Given the description of an element on the screen output the (x, y) to click on. 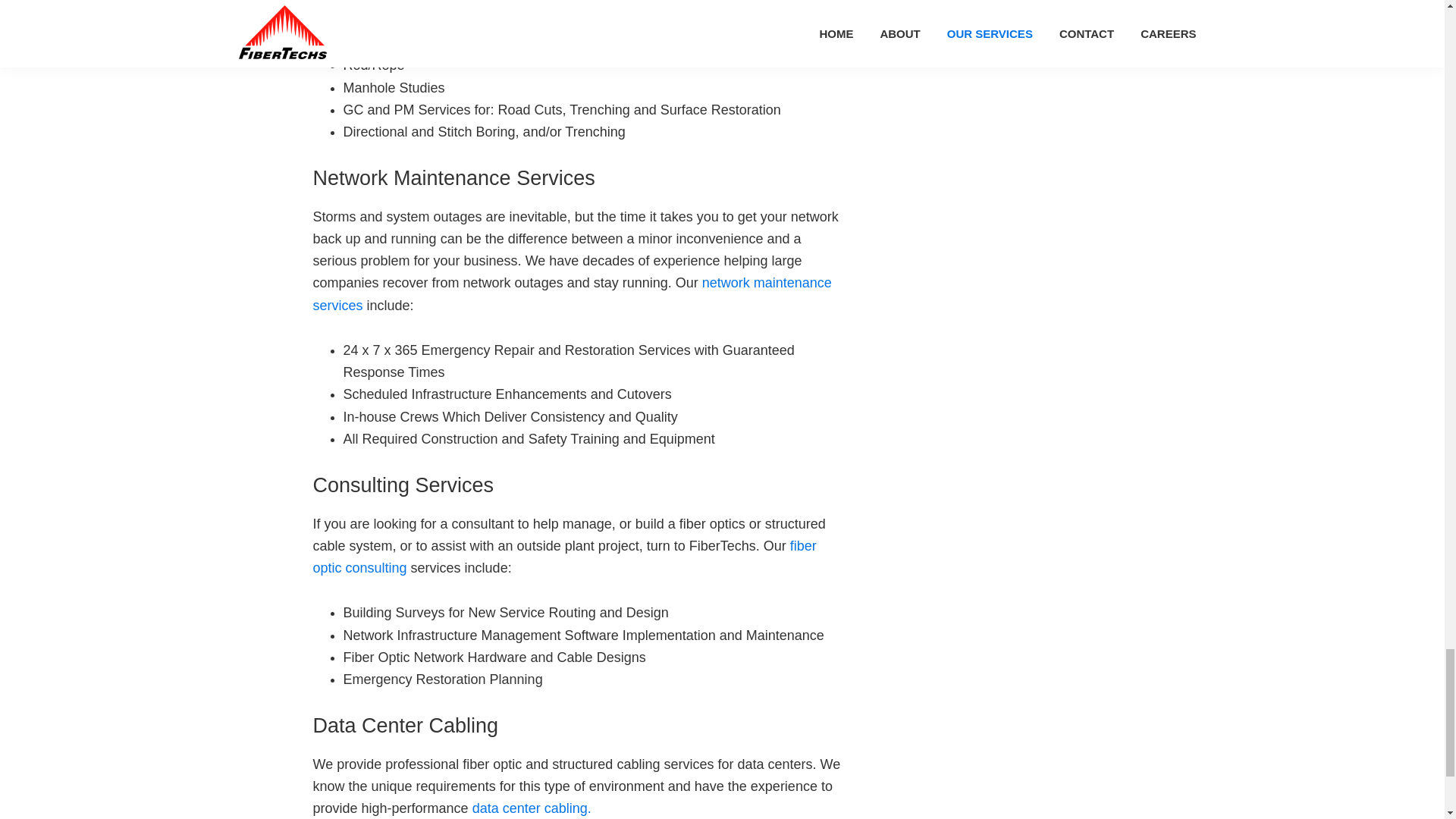
network maintenance services (572, 293)
data center cabling. (531, 807)
fiber optic consulting (564, 556)
